Given the description of an element on the screen output the (x, y) to click on. 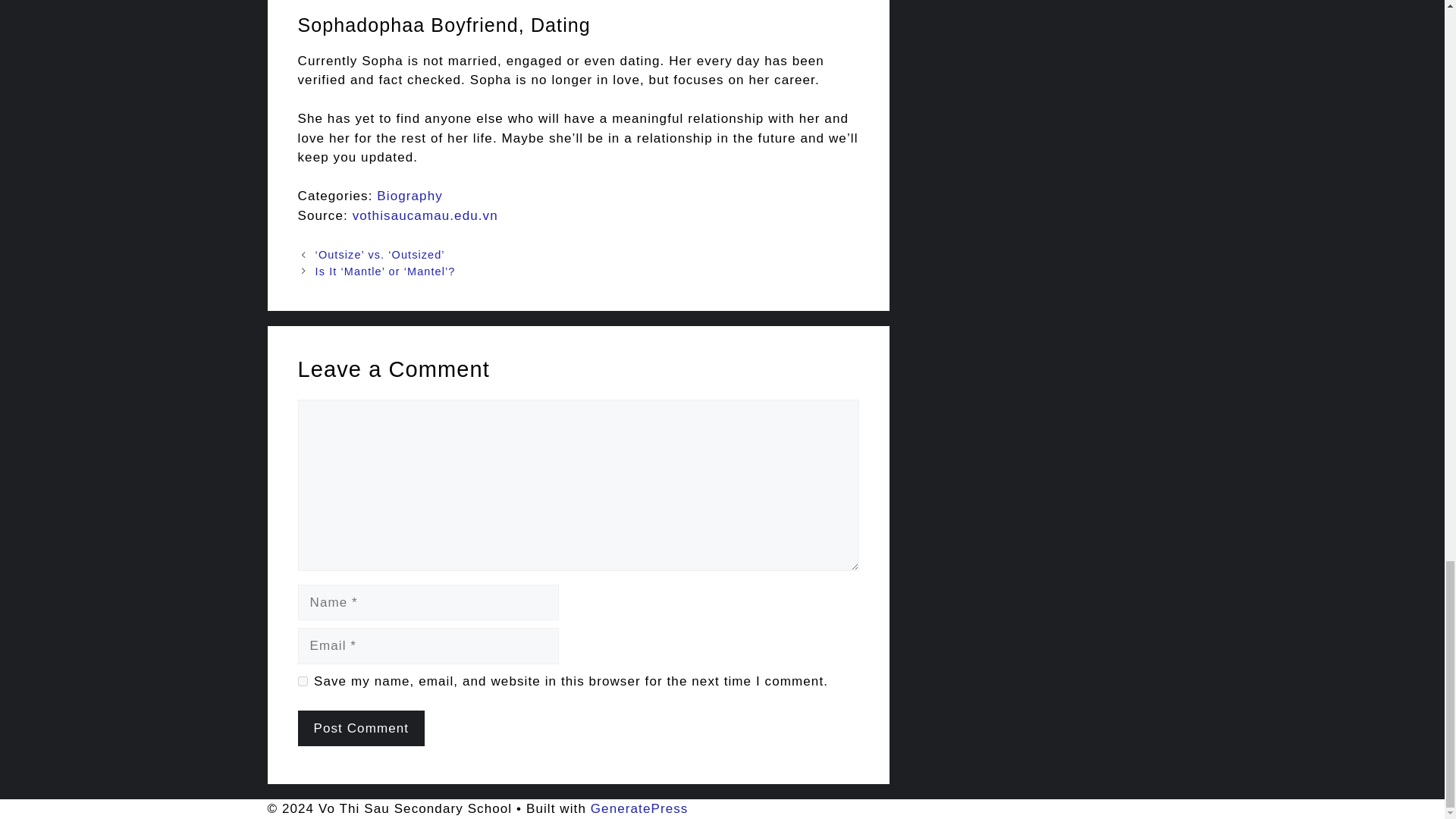
vothisaucamau.edu.vn (424, 215)
yes (302, 681)
GeneratePress (639, 808)
Biography (409, 196)
Post Comment (361, 728)
Post Comment (361, 728)
